Given the description of an element on the screen output the (x, y) to click on. 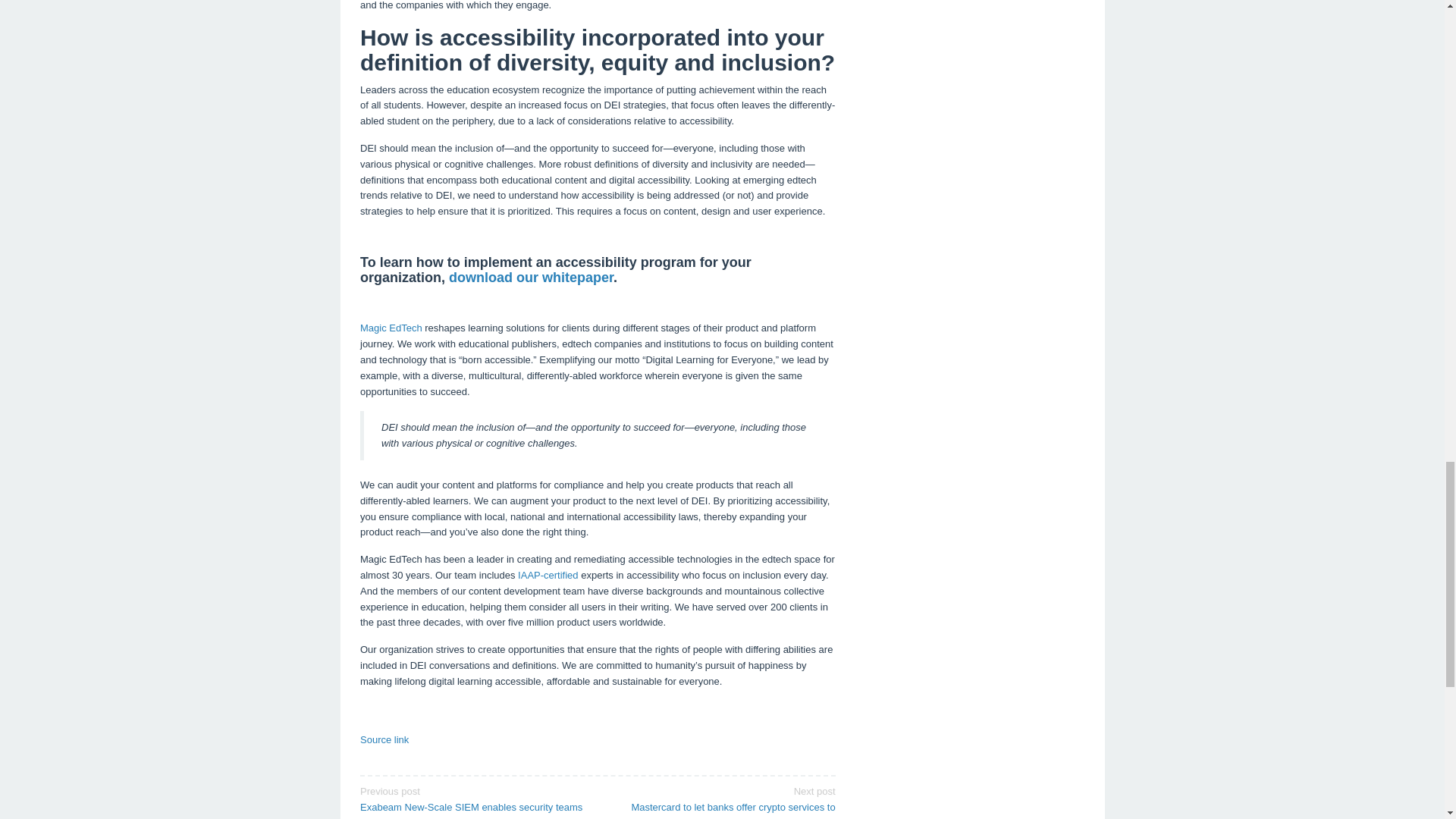
IAAP-certified (548, 574)
Magic EdTech (390, 327)
download our whitepaper (530, 277)
Source link (384, 739)
